Given the description of an element on the screen output the (x, y) to click on. 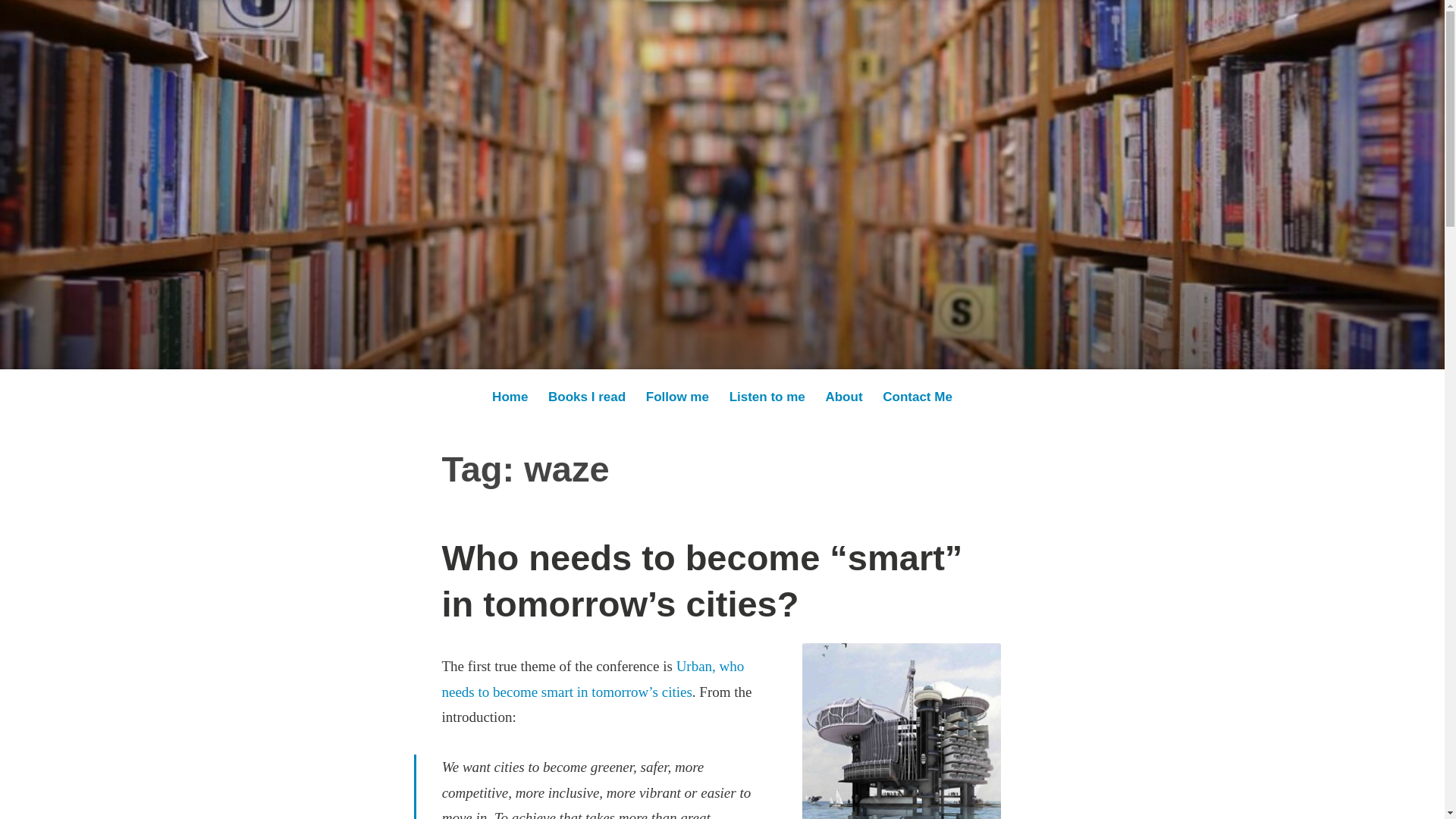
About (843, 397)
Home (510, 397)
Books I read (587, 397)
Follow me (677, 397)
Contact Me (917, 397)
Listen to me (767, 397)
Medium Massage (318, 201)
Transforming abandoned oil platforms into ocean mini cities (901, 730)
